Given the description of an element on the screen output the (x, y) to click on. 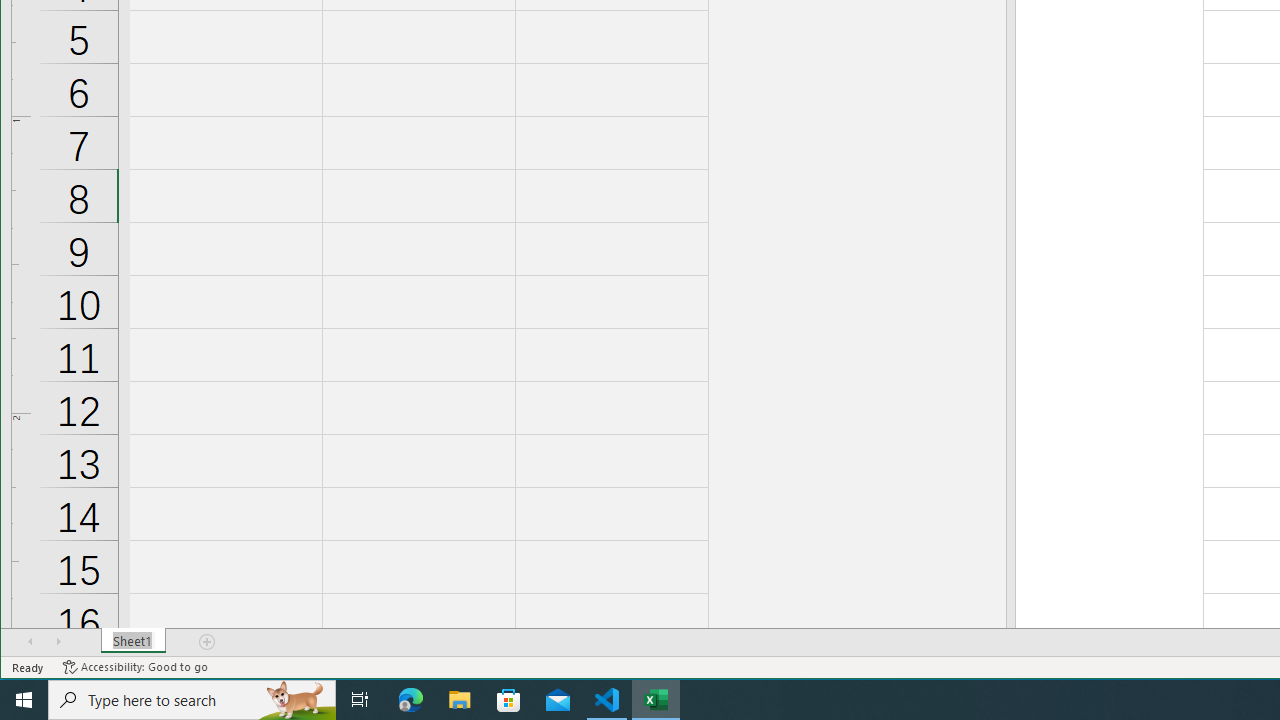
Sheet Tab (133, 641)
Excel - 1 running window (656, 699)
